Given the description of an element on the screen output the (x, y) to click on. 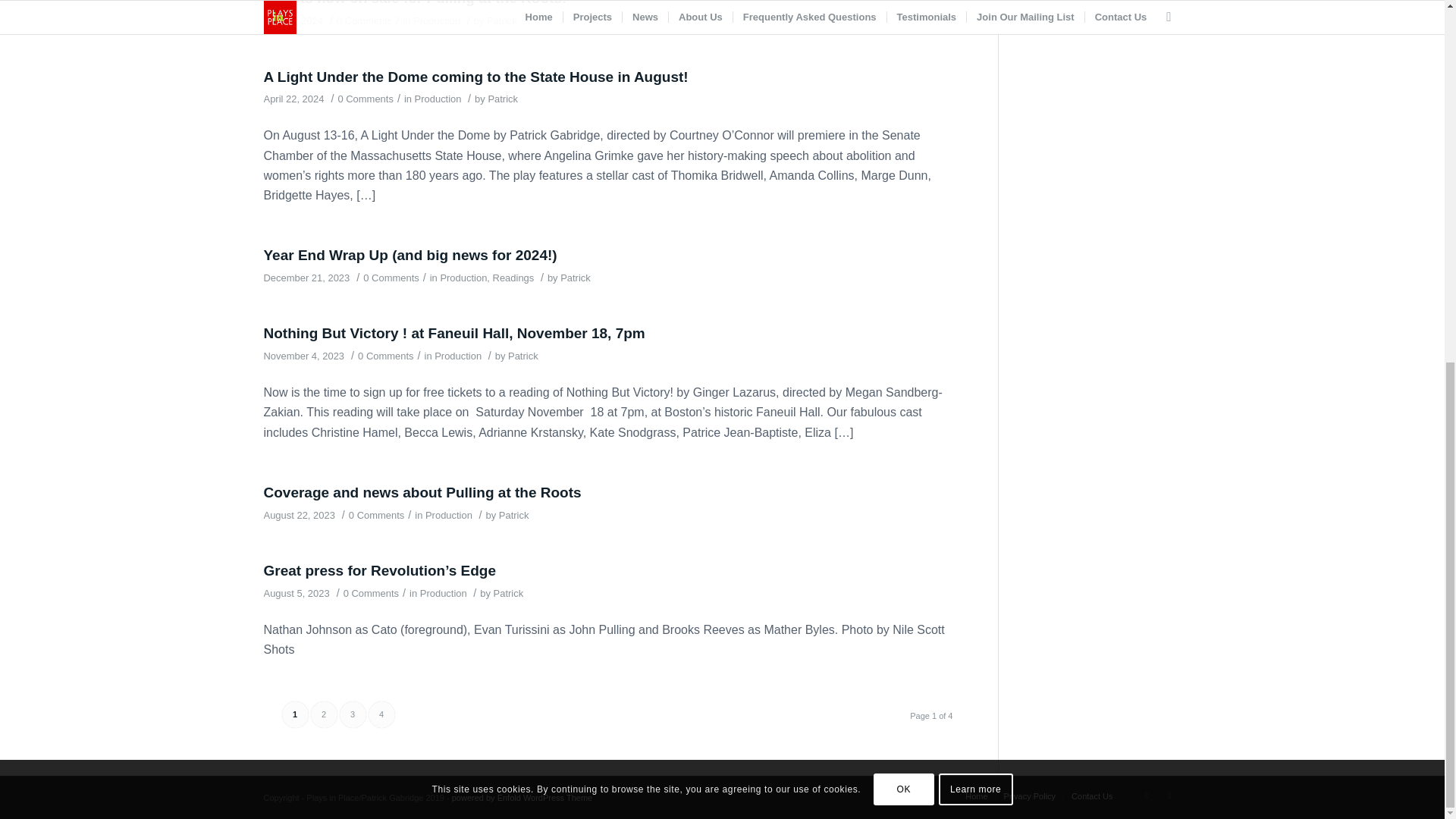
Posts by Patrick (502, 98)
Posts by Patrick (501, 20)
